Given the description of an element on the screen output the (x, y) to click on. 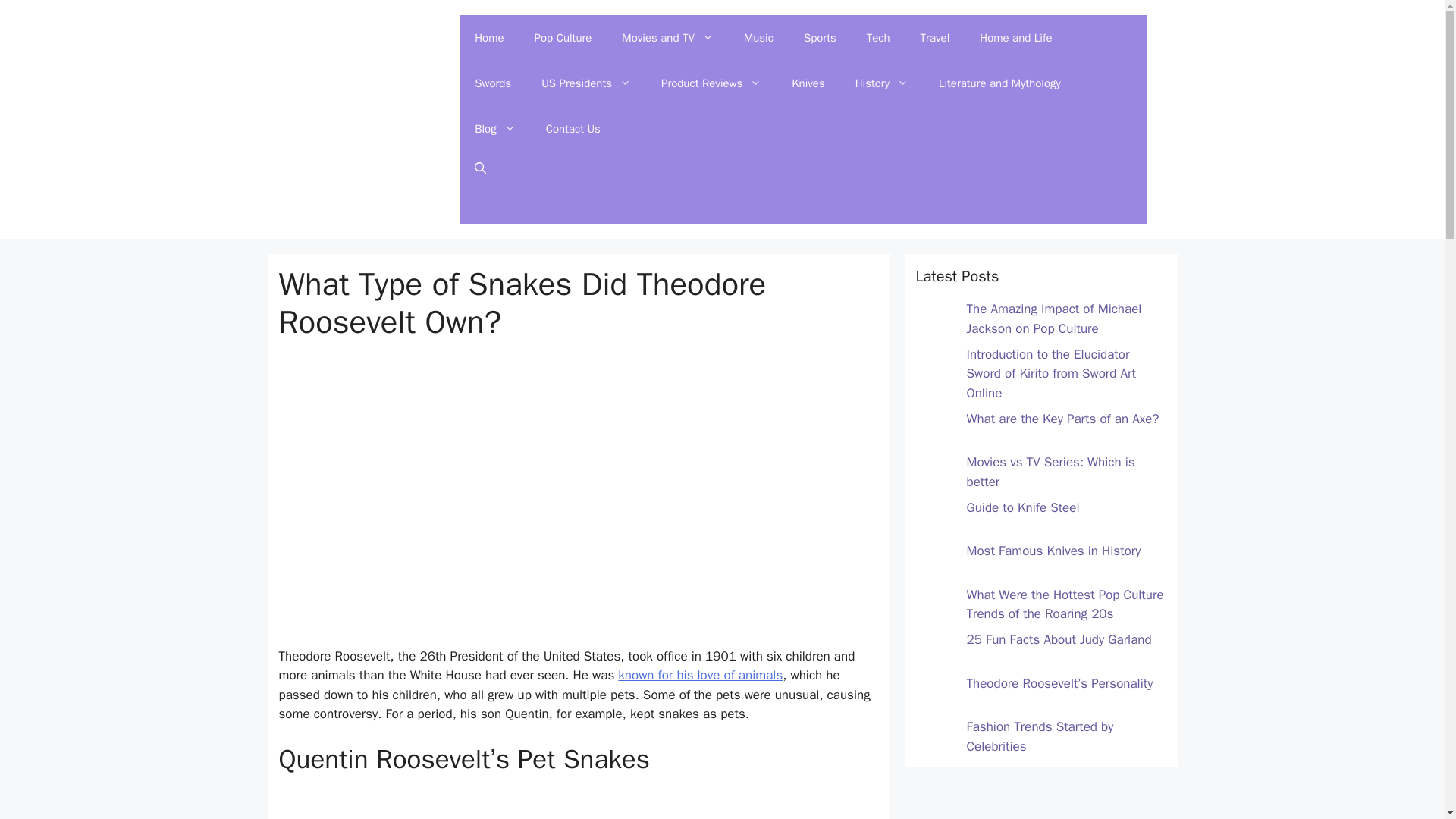
Home and Life (1015, 37)
Swords (492, 83)
Pop Culture (563, 37)
Tech (878, 37)
US Presidents (585, 83)
Sports (820, 37)
Home (489, 37)
Travel (935, 37)
Music (759, 37)
Movies and TV (668, 37)
